Given the description of an element on the screen output the (x, y) to click on. 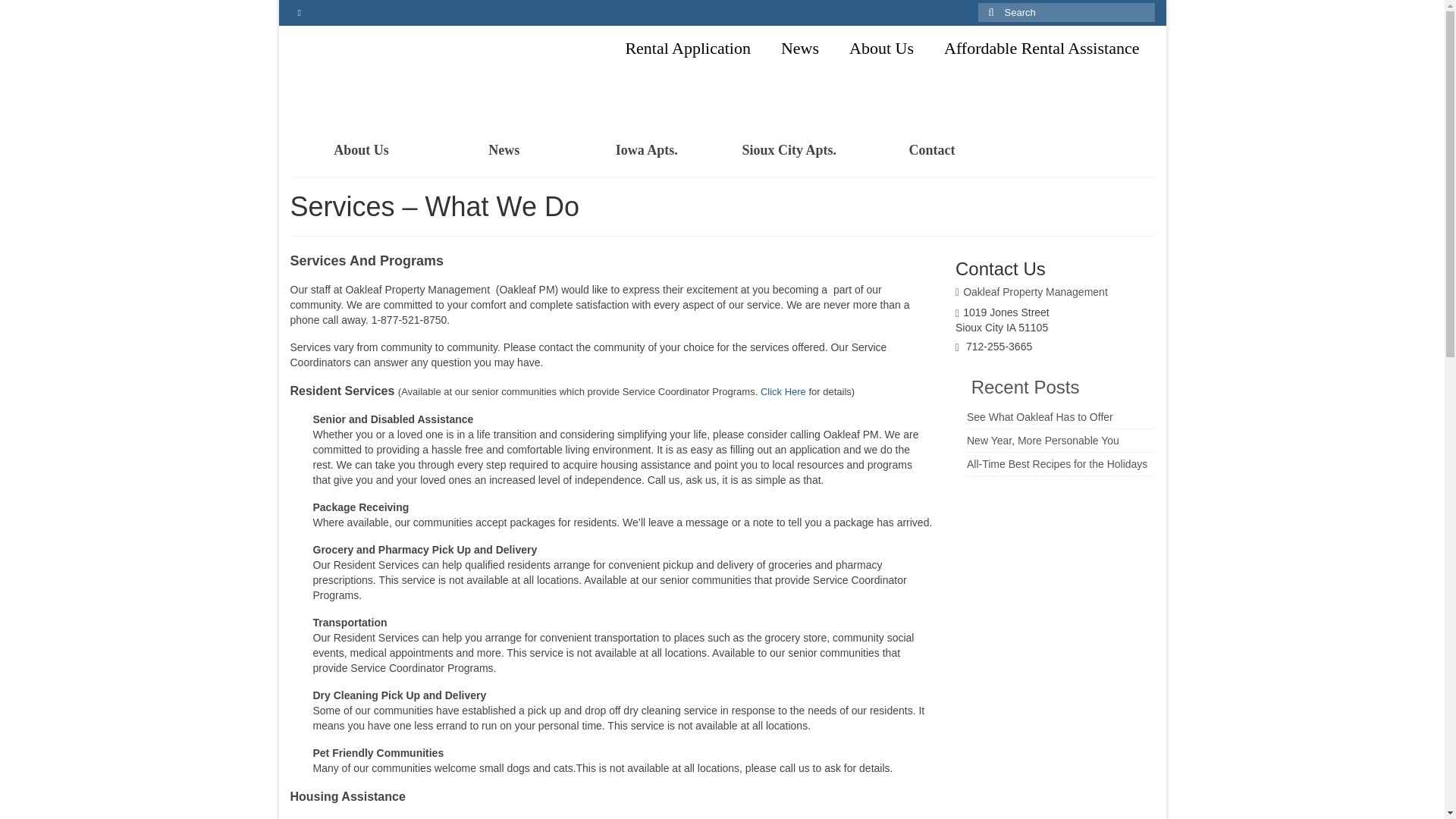
About Us (360, 150)
About Us (881, 48)
News (503, 150)
Service Coordinator Program (783, 391)
Affordable Rental Assistance (1041, 48)
Iowa Apts. (646, 150)
Sioux City Apts. (788, 150)
Rental Application (687, 48)
News (799, 48)
